Given the description of an element on the screen output the (x, y) to click on. 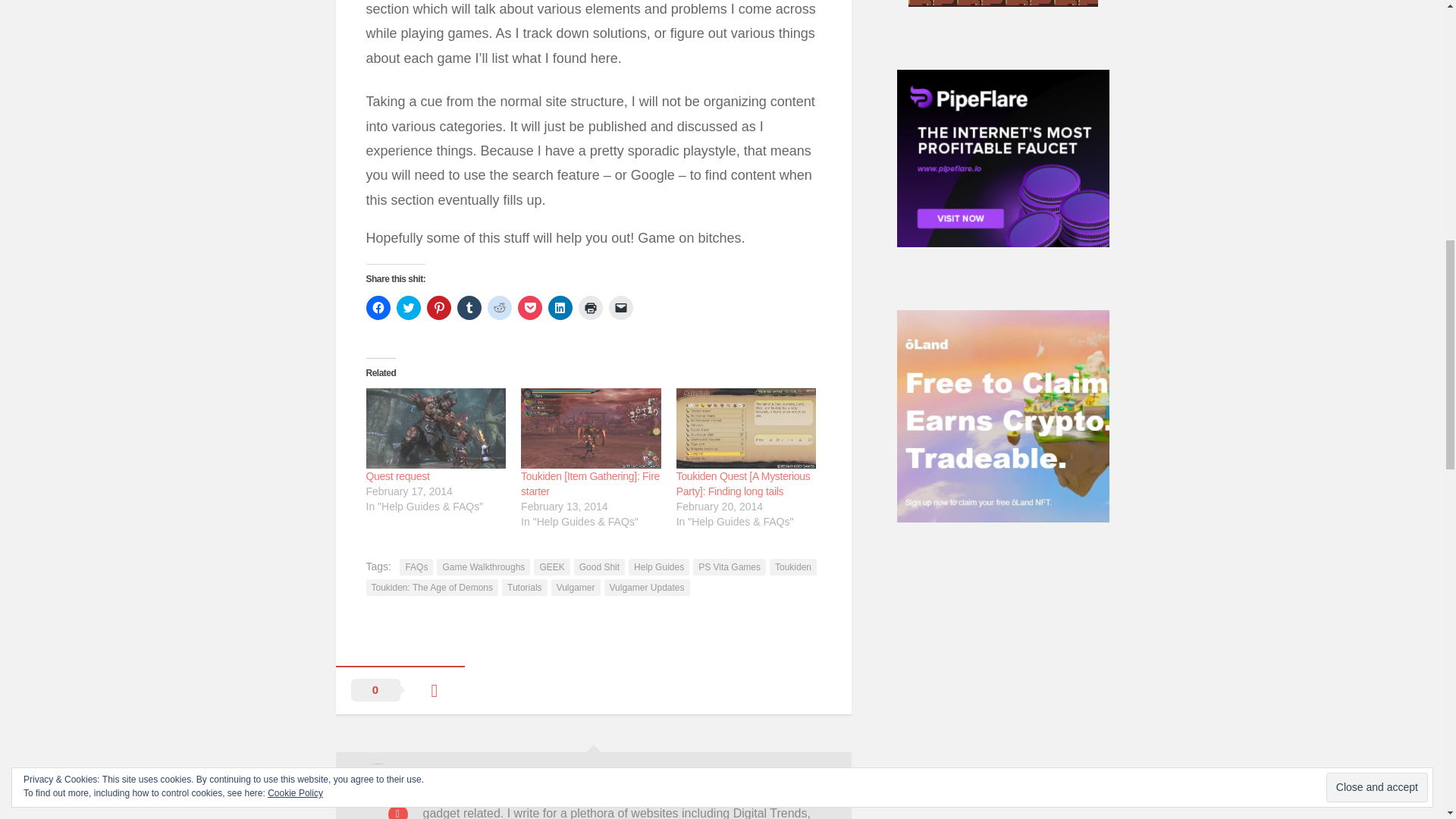
Game Walkthroughs (482, 566)
Click to share on Twitter (408, 307)
Toukiden: The Age of Demons (431, 587)
Click to share on Pocket (528, 307)
Click to share on LinkedIn (559, 307)
0 (399, 689)
PS Vita Games (729, 566)
Help Guides (658, 566)
Click to share on Pinterest (437, 307)
Click to share on Facebook (377, 307)
Vulgamer (575, 587)
FAQs (415, 566)
Click to email a link to a friend (619, 307)
Vulgamer Updates (647, 587)
Quest request (397, 476)
